Given the description of an element on the screen output the (x, y) to click on. 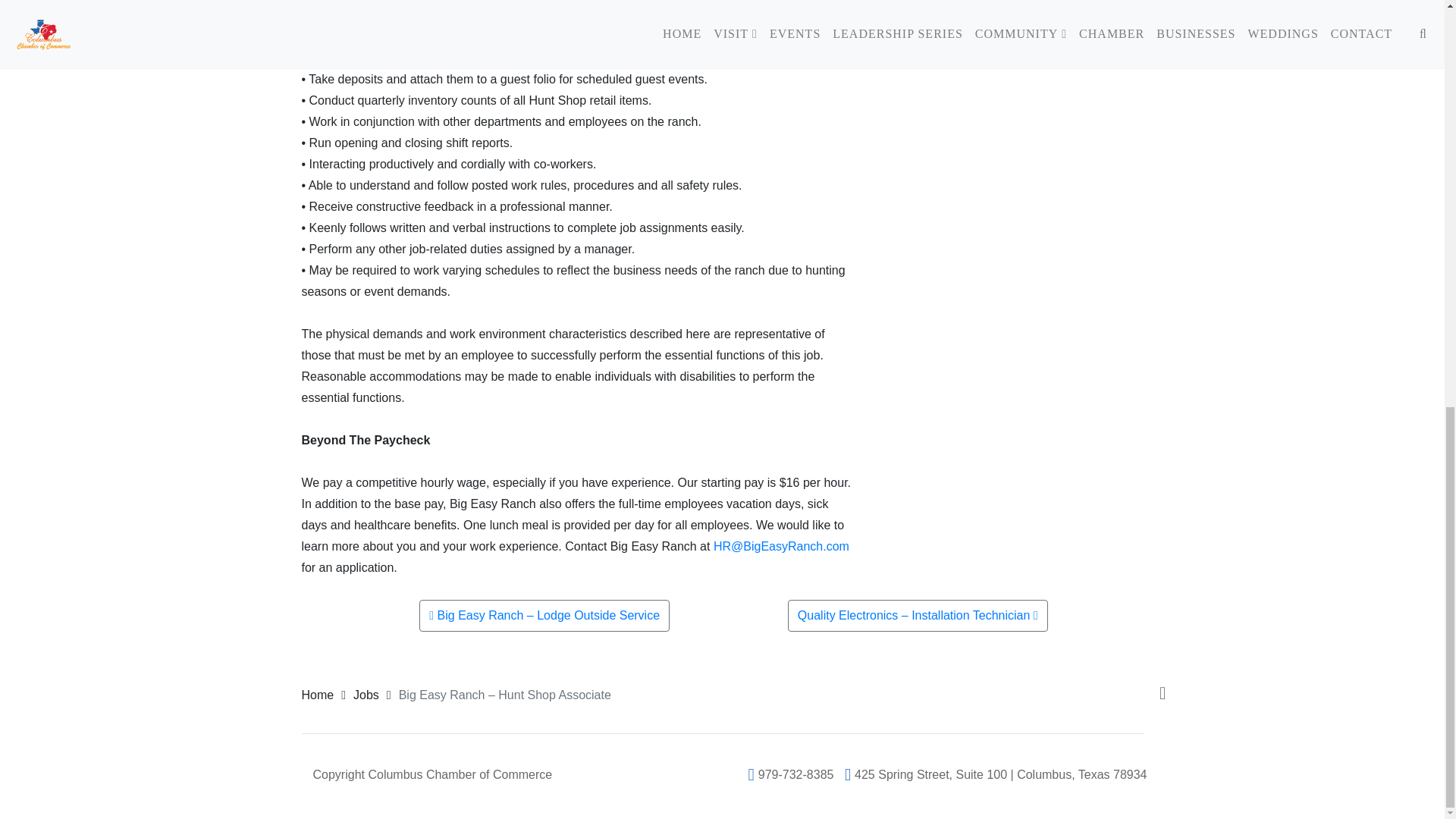
Home (317, 694)
Jobs (365, 694)
